Given the description of an element on the screen output the (x, y) to click on. 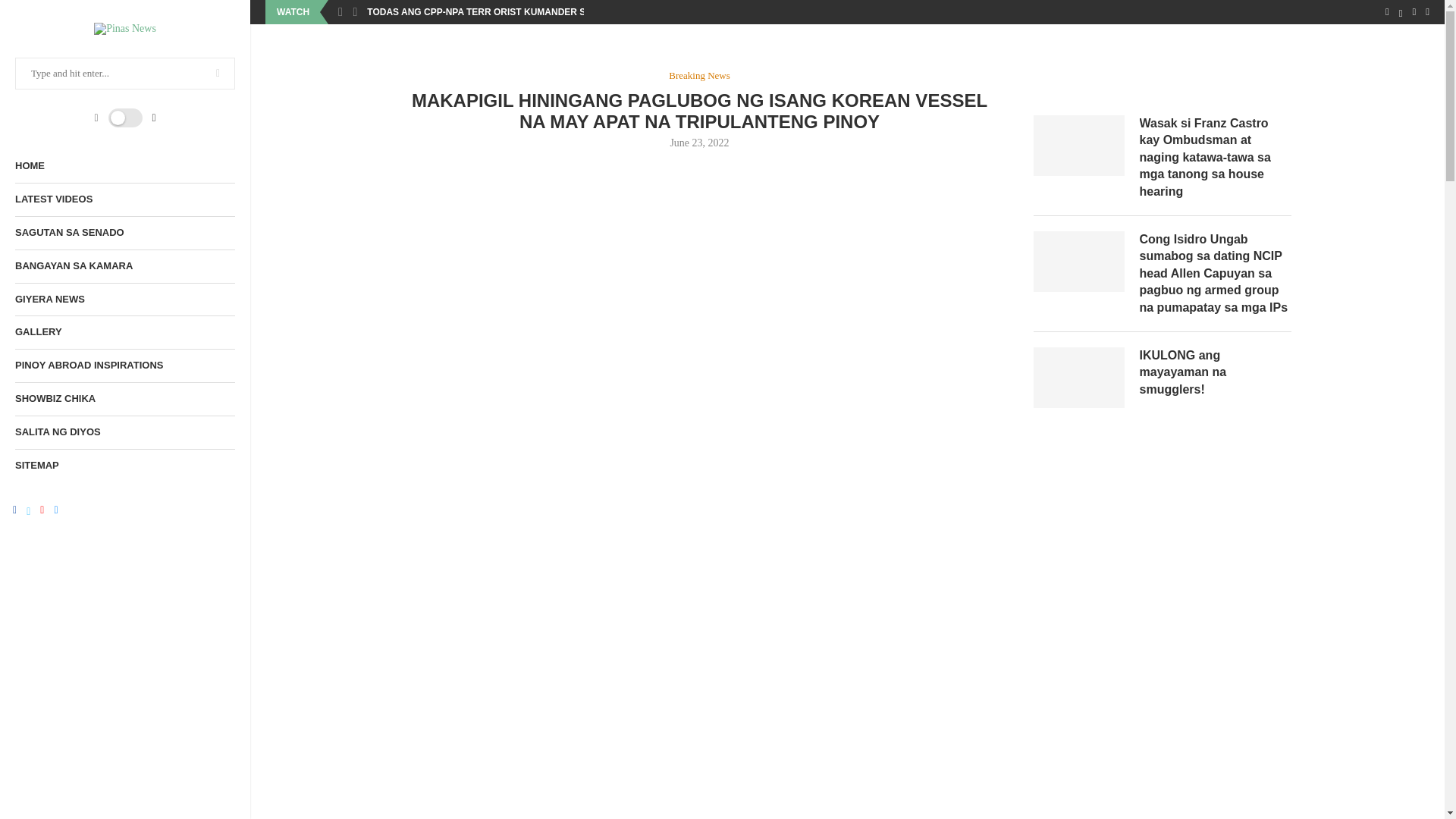
LATEST VIDEOS (124, 199)
IKULONG ang mayayaman na smugglers! (1078, 377)
GIYERA NEWS (124, 299)
BANGAYAN SA KAMARA (124, 266)
SAGUTAN SA SENADO (124, 233)
HOME (124, 165)
IKULONG ang mayayaman na smugglers! (1214, 372)
SHOWBIZ CHIKA (124, 399)
TODAS ANG CPP-NPA TERR ORIST KUMANDER SA BAKBAKAN SA SURIGAO (536, 12)
GALLERY (124, 332)
